Given the description of an element on the screen output the (x, y) to click on. 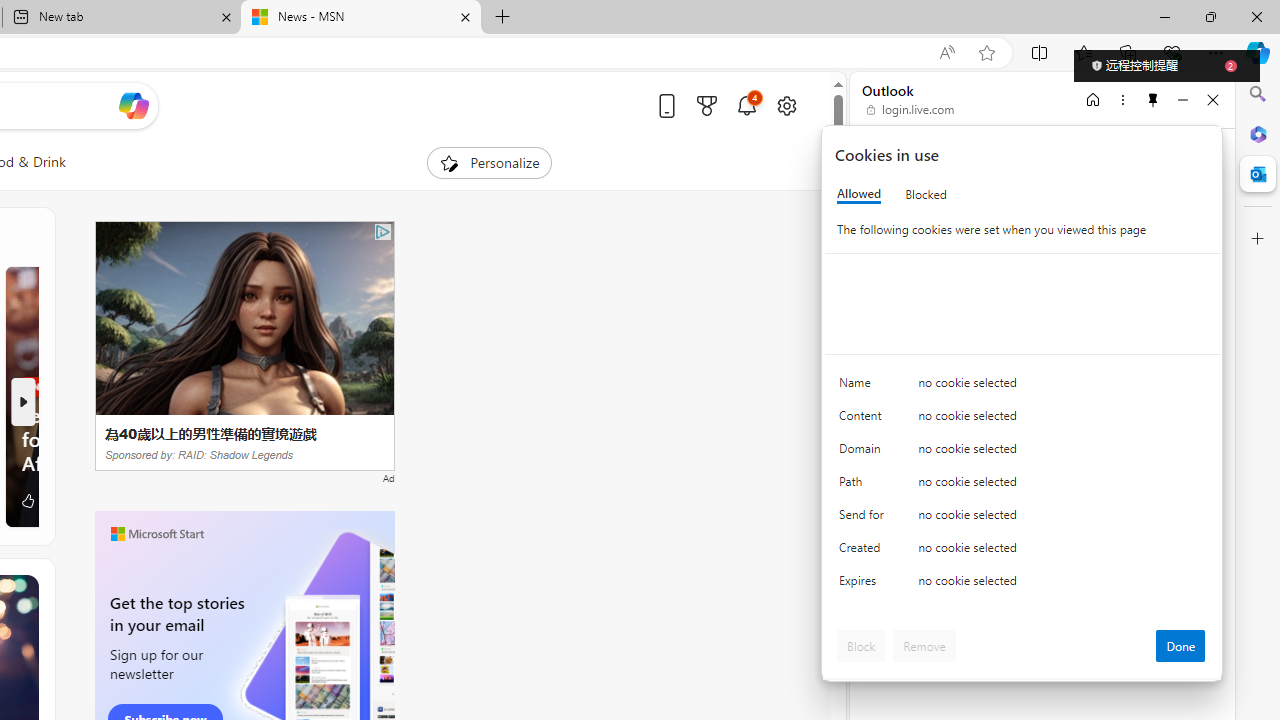
Created (864, 552)
Class: c0153 c0157 c0154 (1023, 386)
Notifications (746, 105)
Remove (924, 645)
